Given the description of an element on the screen output the (x, y) to click on. 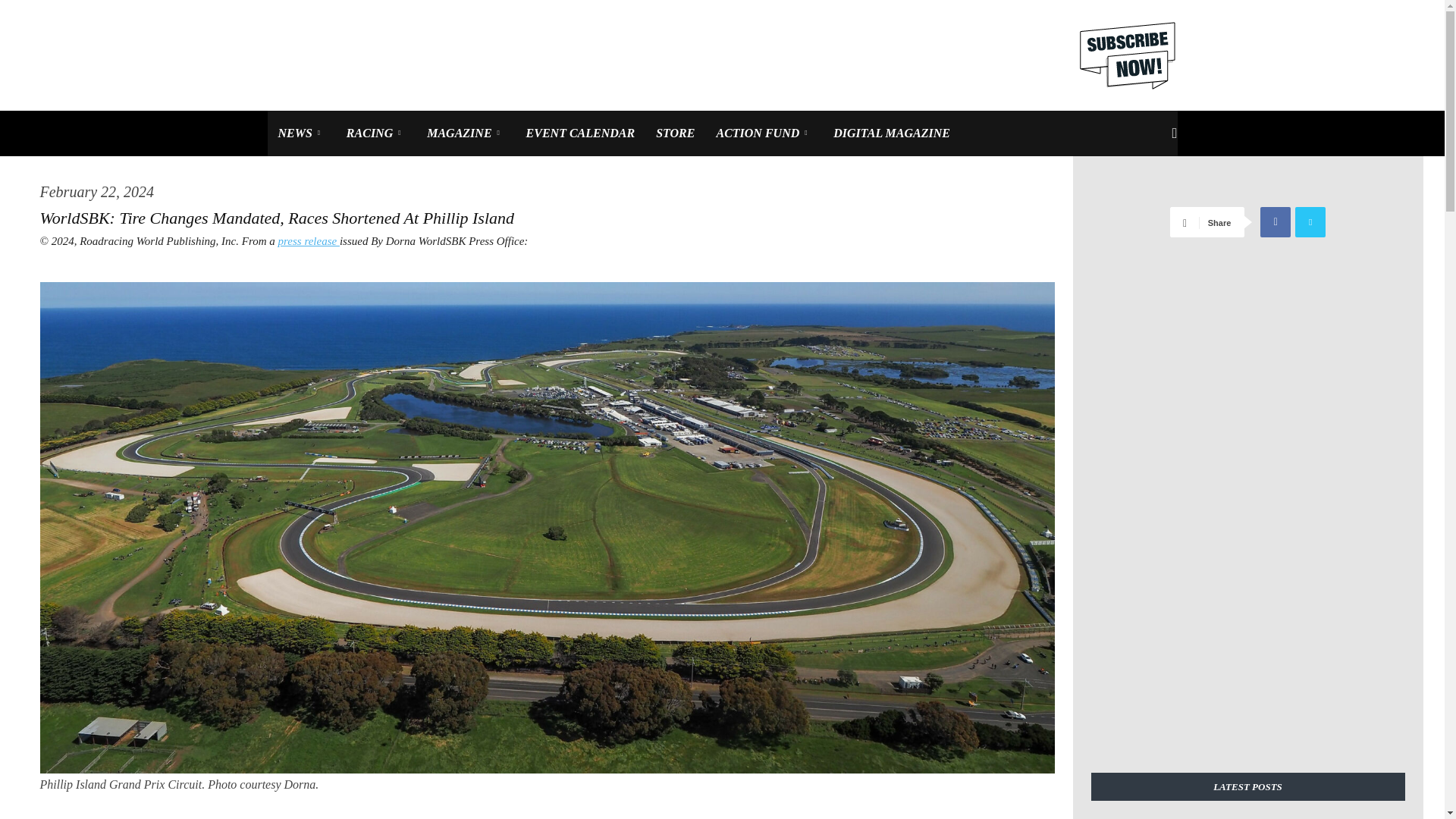
3rd party ad content (783, 55)
